Given the description of an element on the screen output the (x, y) to click on. 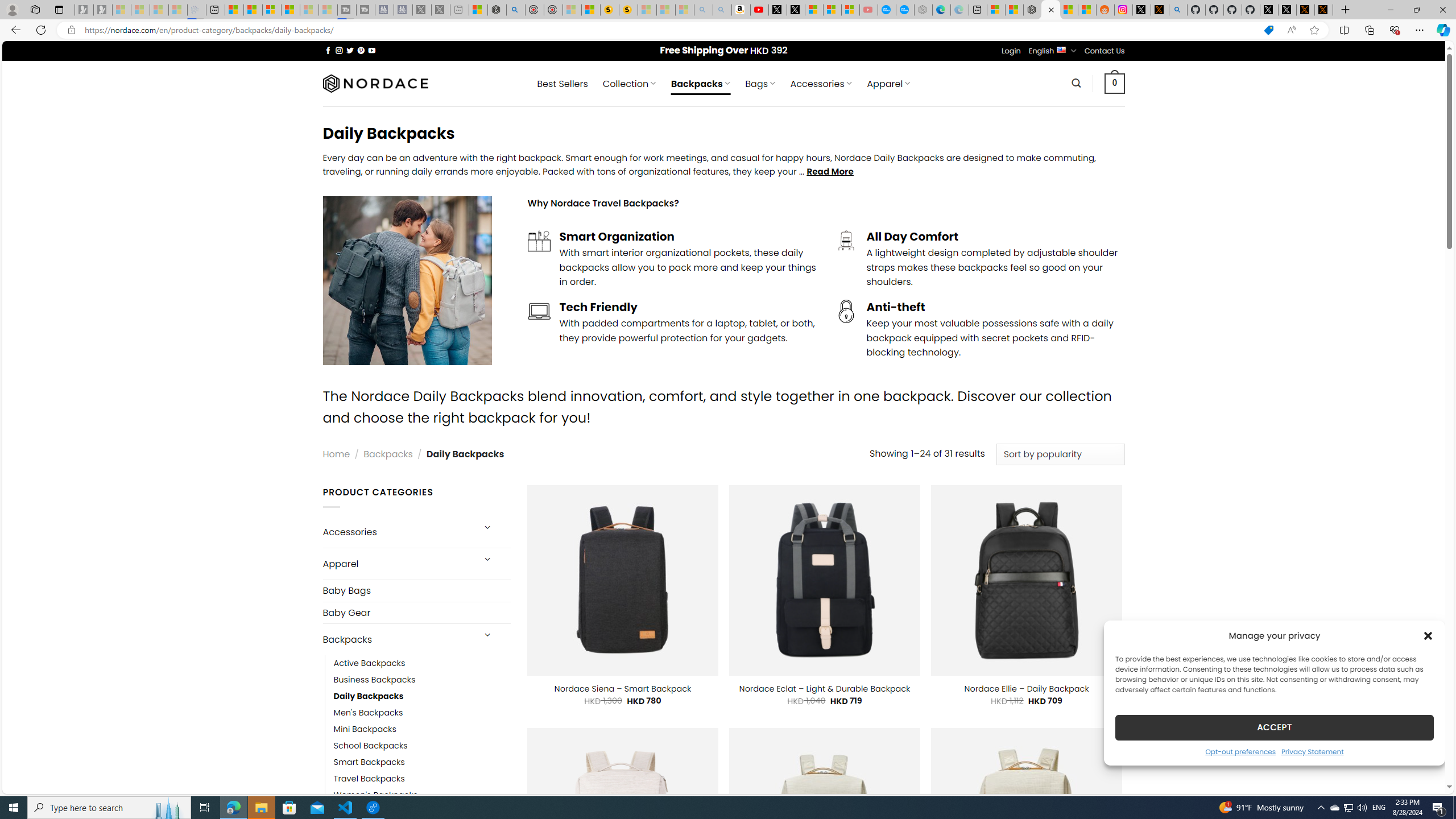
Daily Backpacks (368, 696)
X Privacy Policy (1324, 9)
amazon - Search - Sleeping (702, 9)
English (1061, 49)
